Given the description of an element on the screen output the (x, y) to click on. 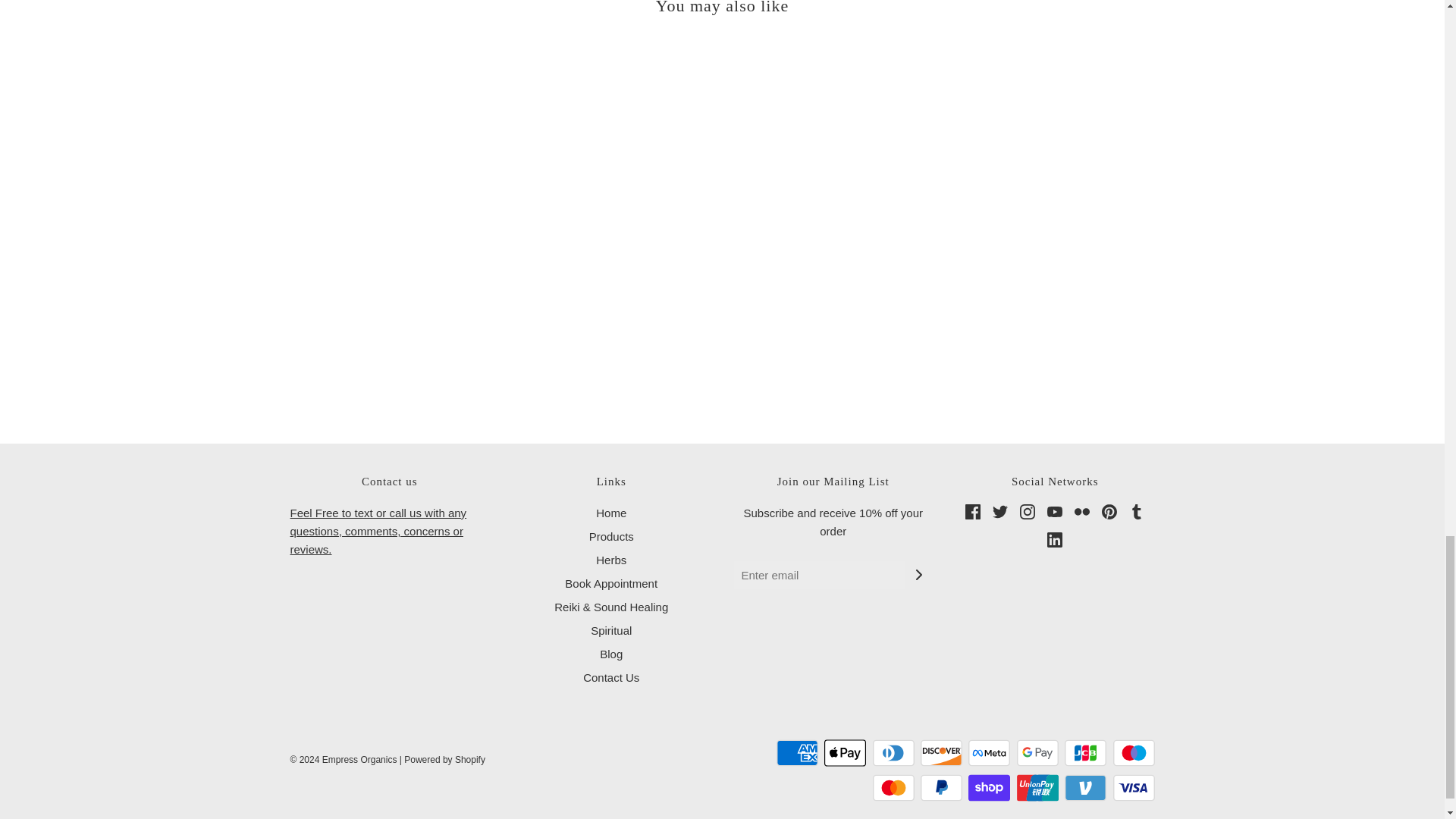
Flickr icon (1081, 511)
YouTube icon (1054, 511)
Instagram icon (1027, 511)
Contact Us (377, 531)
Facebook icon (972, 511)
Pinterest icon (1109, 511)
Twitter icon (999, 511)
